Given the description of an element on the screen output the (x, y) to click on. 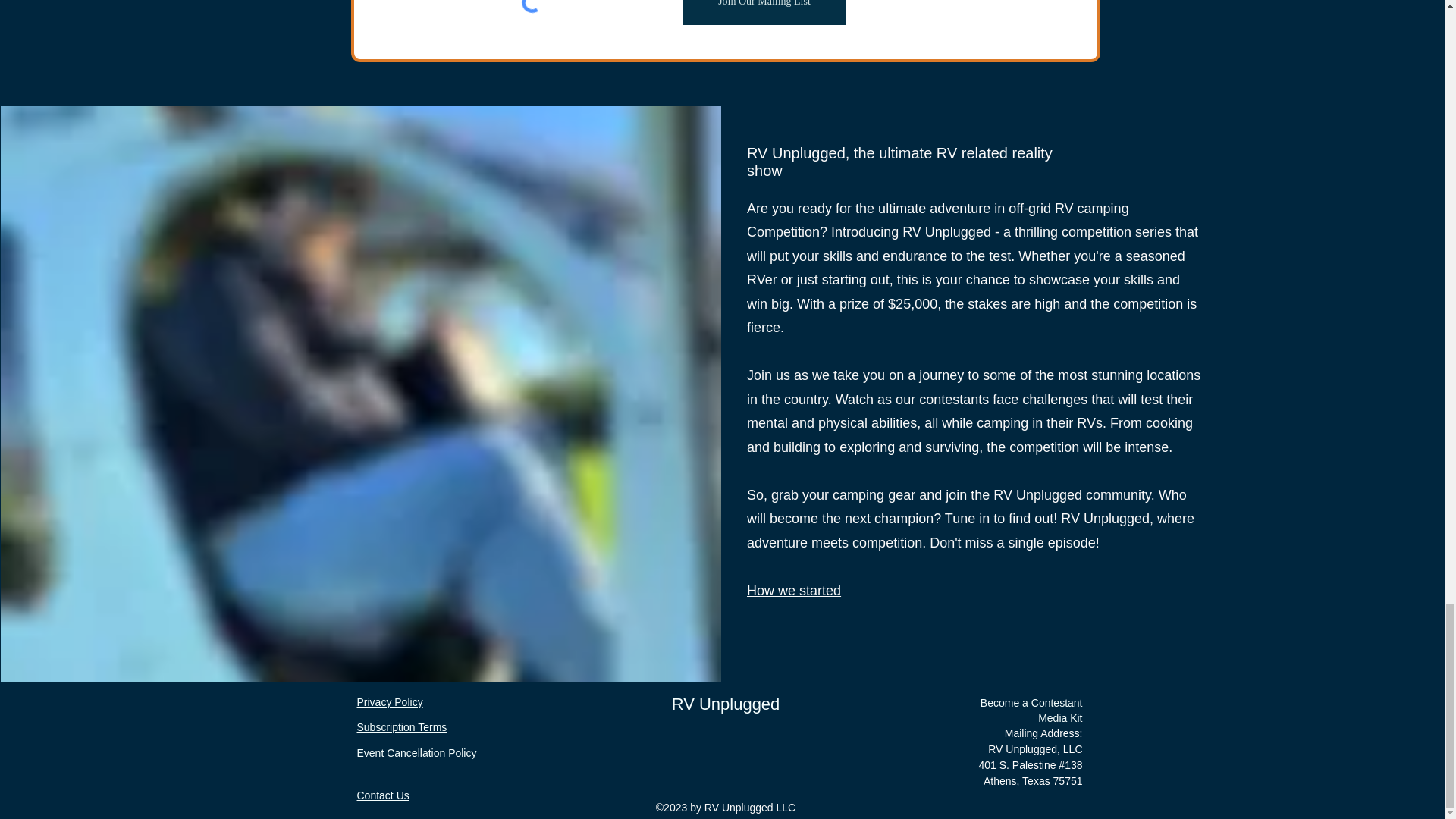
Contact Us (382, 795)
Media Kit (1059, 717)
Privacy Policy (389, 702)
How we started (793, 590)
Subscription Terms (401, 727)
Become a Contestant (1031, 702)
Join Our Mailing List (763, 12)
Event Cancellation Policy (416, 752)
